Given the description of an element on the screen output the (x, y) to click on. 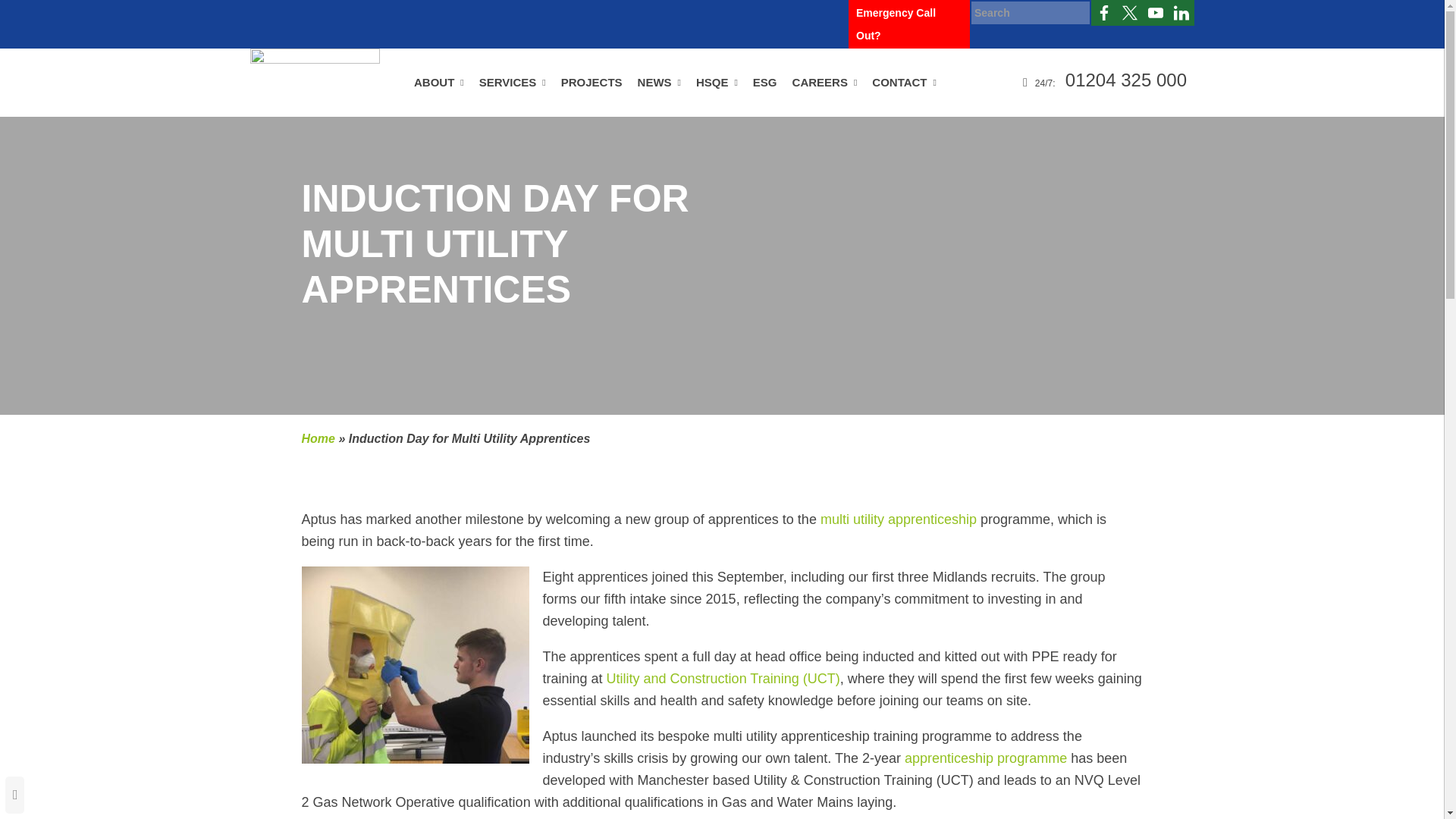
Twitter (1129, 12)
Facebook (1103, 12)
Linkedin (1181, 12)
IMG 5888 (415, 664)
Youtube (1155, 12)
